Given the description of an element on the screen output the (x, y) to click on. 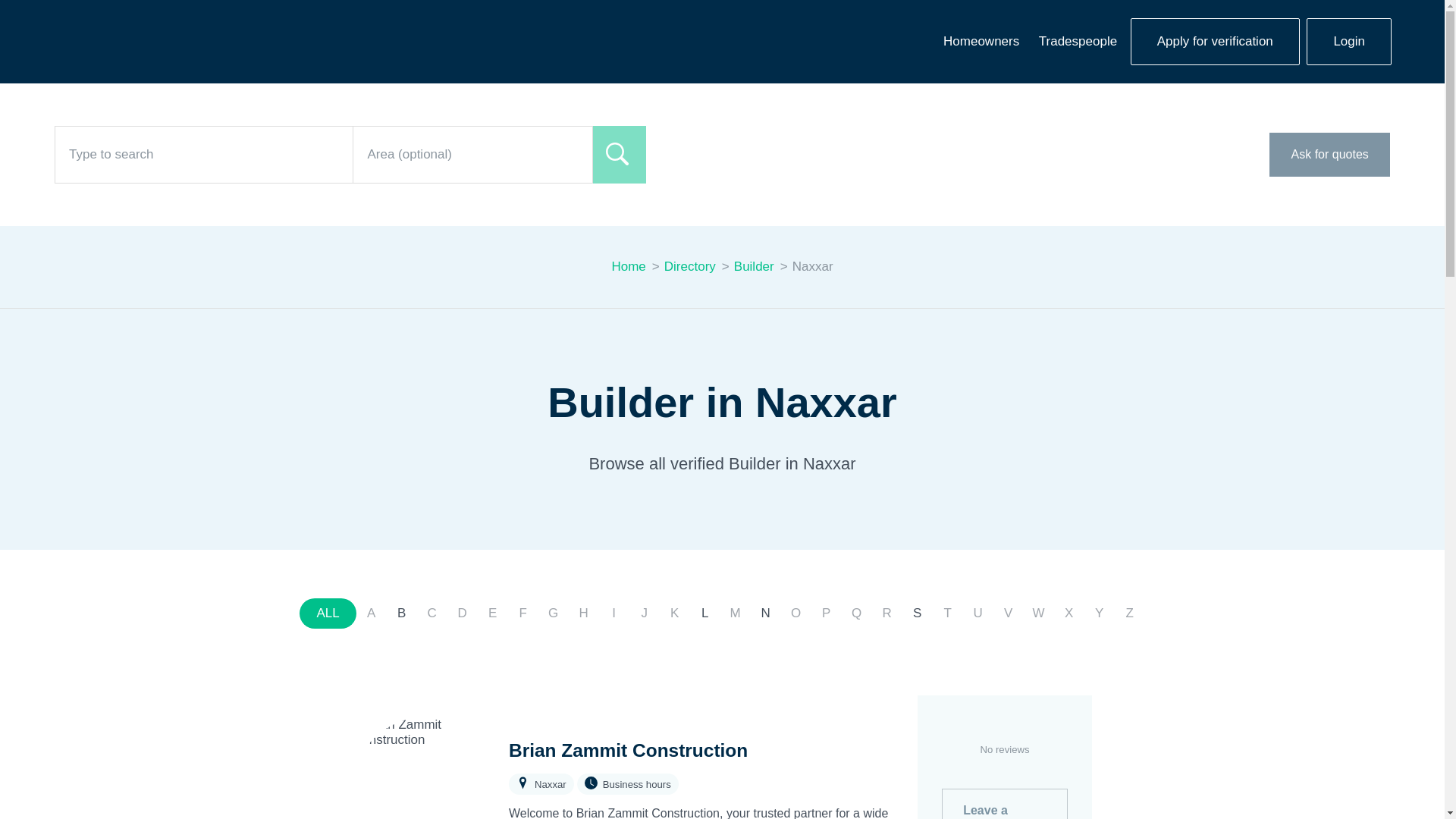
Y (1099, 613)
O (795, 613)
Builder (753, 266)
P (825, 613)
B (401, 613)
Tradespeople (1077, 41)
U (977, 613)
T (947, 613)
Z (1129, 613)
E (492, 613)
